Given the description of an element on the screen output the (x, y) to click on. 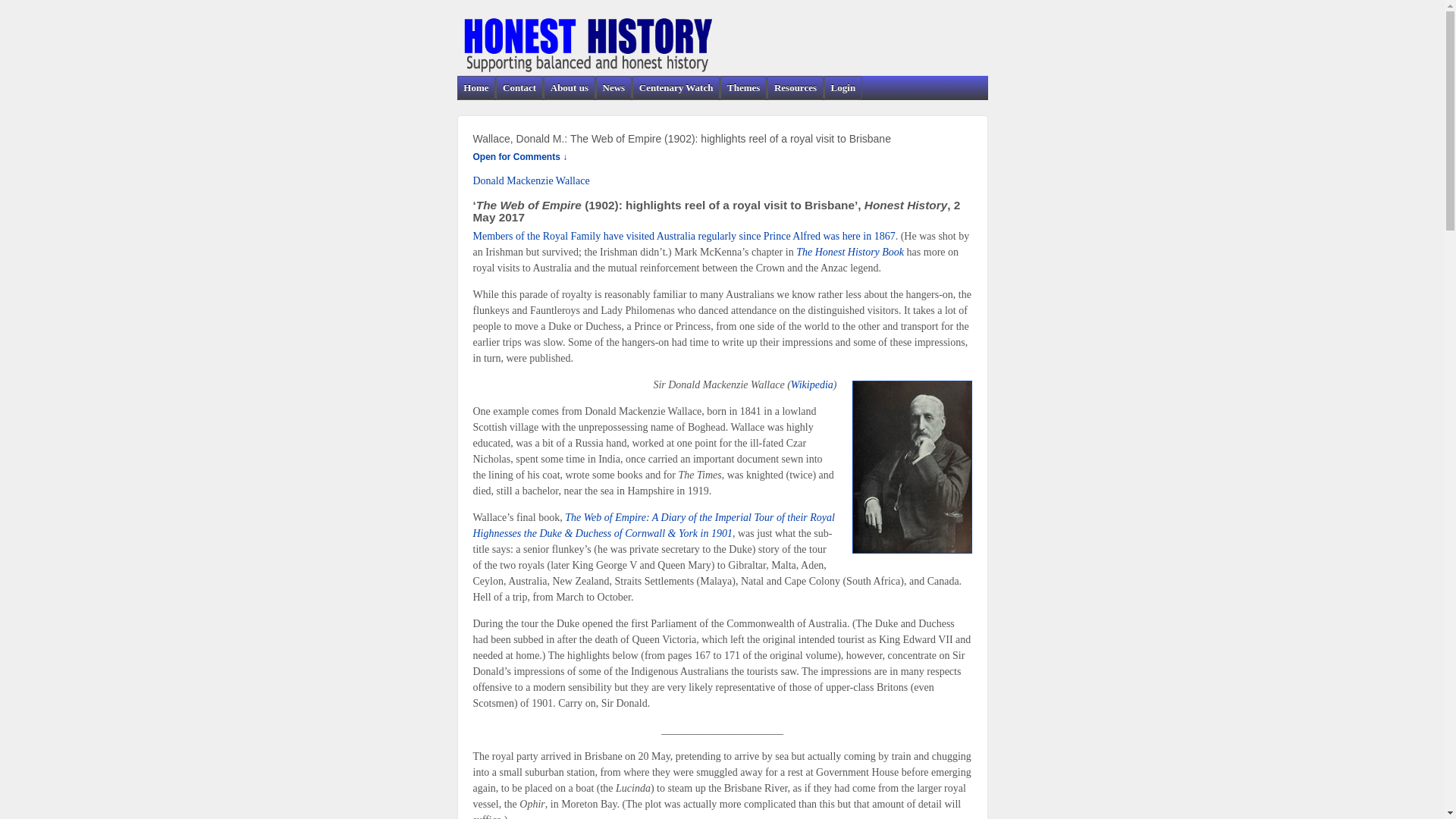
Centenary Watch Element type: text (675, 87)
Resources Element type: text (794, 87)
About us Element type: text (568, 87)
Donald Mackenzie Wallace Element type: text (531, 180)
News Element type: text (613, 87)
Home Element type: text (476, 87)
Themes Element type: text (742, 87)
Login Element type: text (842, 87)
Wikipedia Element type: text (811, 384)
The Honest History Book Element type: text (849, 251)
Contact Element type: text (518, 87)
